Given the description of an element on the screen output the (x, y) to click on. 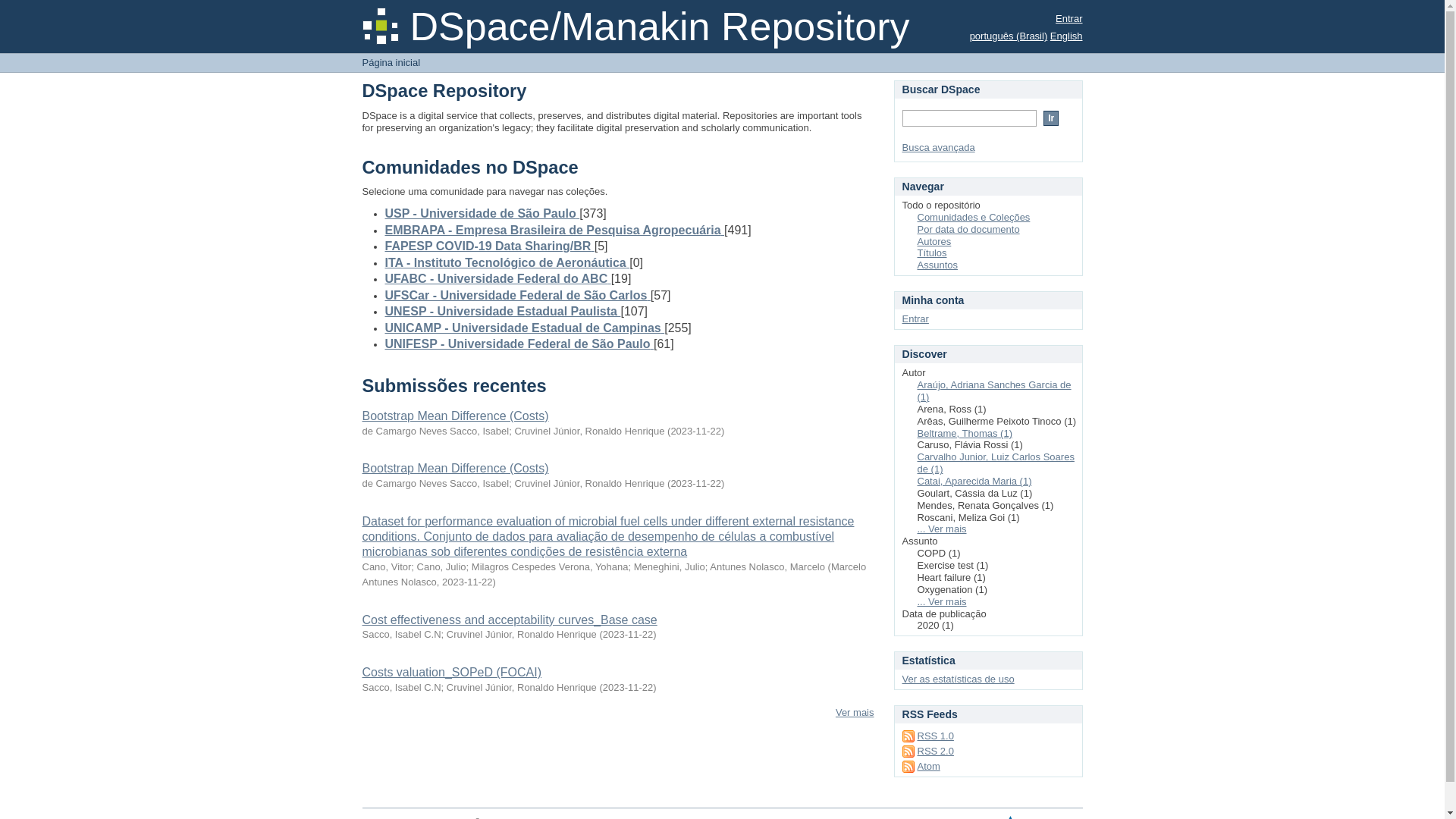
Bootstrap Mean Difference (Costs) Element type: text (455, 415)
RSS 2.0 Element type: text (927, 751)
Por data do documento Element type: text (968, 229)
Beltrame, Thomas (1) Element type: text (964, 433)
Ver mais Element type: text (854, 712)
Cost effectiveness and acceptability curves_Base case Element type: text (509, 619)
Carvalho Junior, Luiz Carlos Soares de (1) Element type: text (995, 462)
FAPESP COVID-19 Data Sharing/BR Element type: text (489, 245)
Atom Element type: text (921, 766)
... Ver mais Element type: text (941, 601)
UNICAMP - Universidade Estadual de Campinas Element type: text (525, 327)
... Ver mais Element type: text (941, 528)
Costs valuation_SOPeD (FOCAI) Element type: text (452, 671)
Autores Element type: text (934, 241)
Catai, Aparecida Maria (1) Element type: text (974, 480)
Bootstrap Mean Difference (Costs) Element type: text (455, 467)
Assuntos Element type: text (937, 264)
Entrar Element type: text (915, 318)
English Element type: text (1066, 35)
Ir Element type: text (1050, 117)
Entrar Element type: text (1068, 18)
UNESP - Universidade Estadual Paulista Element type: text (503, 310)
RSS 1.0 Element type: text (927, 736)
UFABC - Universidade Federal do ABC Element type: text (498, 278)
